Given the description of an element on the screen output the (x, y) to click on. 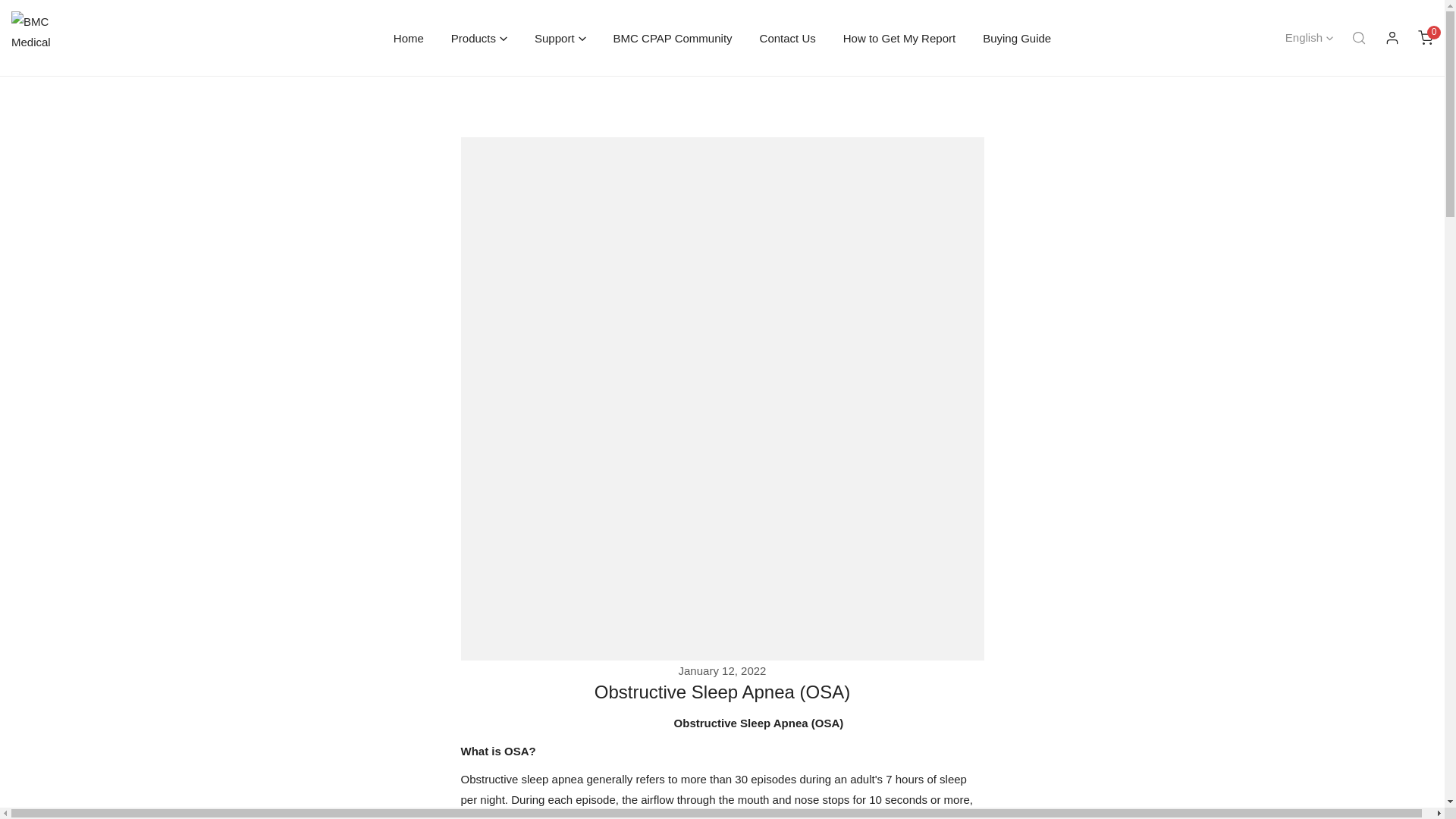
Log in (1392, 37)
SKIP TO CONTENT (24, 18)
BMC CPAP Community (672, 37)
Buying Guide (1016, 37)
English (1309, 37)
Home (409, 37)
Contact Us (787, 37)
How to Get My Report (1425, 37)
BMC CPAP Shop (899, 37)
